Given the description of an element on the screen output the (x, y) to click on. 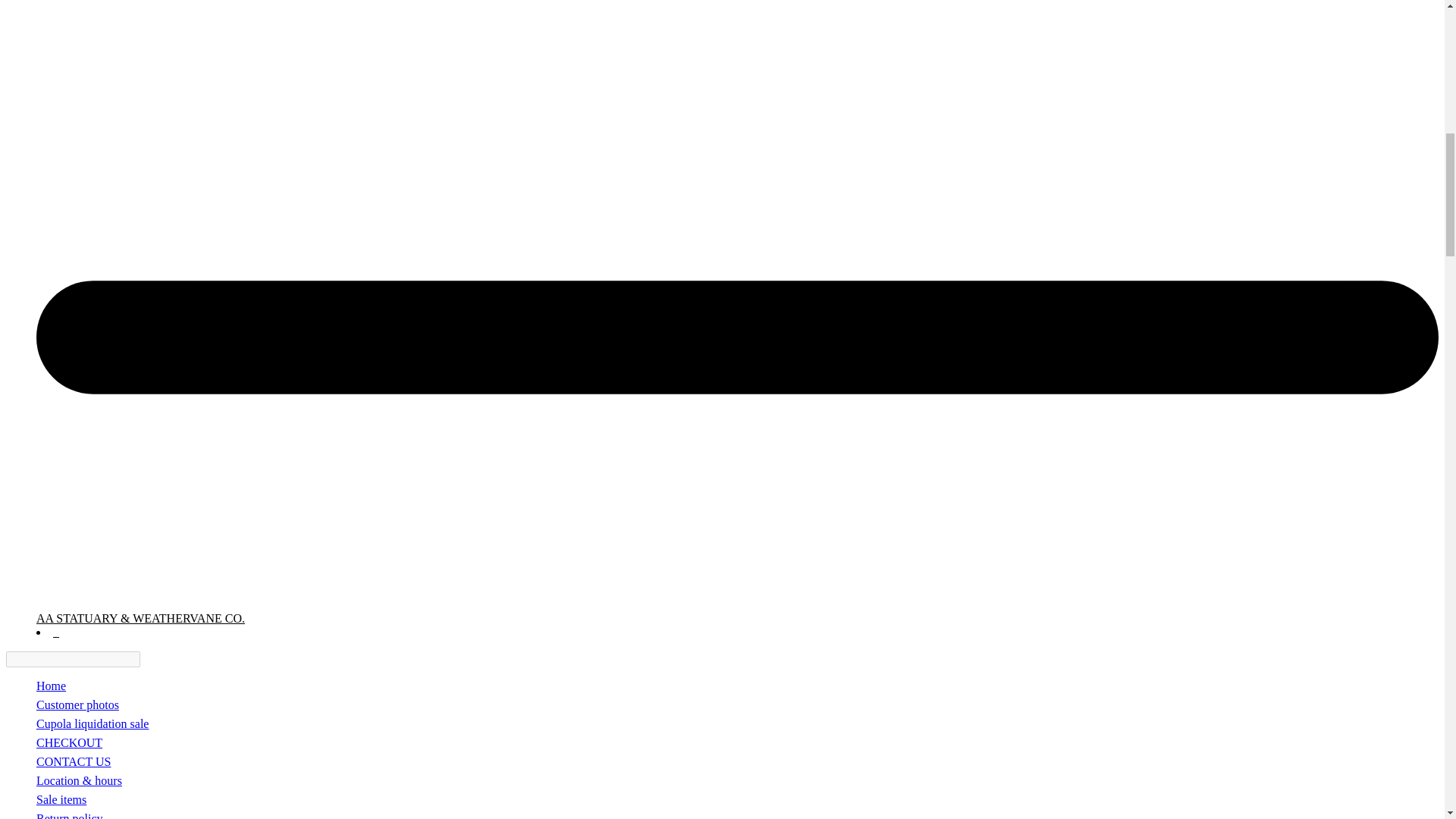
Home (50, 685)
CONTACT US (73, 761)
Cupola liquidation sale (92, 723)
Customer photos (77, 704)
ALL PRODUCTS ARE GUARANTEED FOR ONE YEAR FROM DELIVERY DATE. (50, 685)
Return policy (69, 815)
CHECKOUT (68, 742)
Find (148, 658)
Sale items (60, 799)
